Given the description of an element on the screen output the (x, y) to click on. 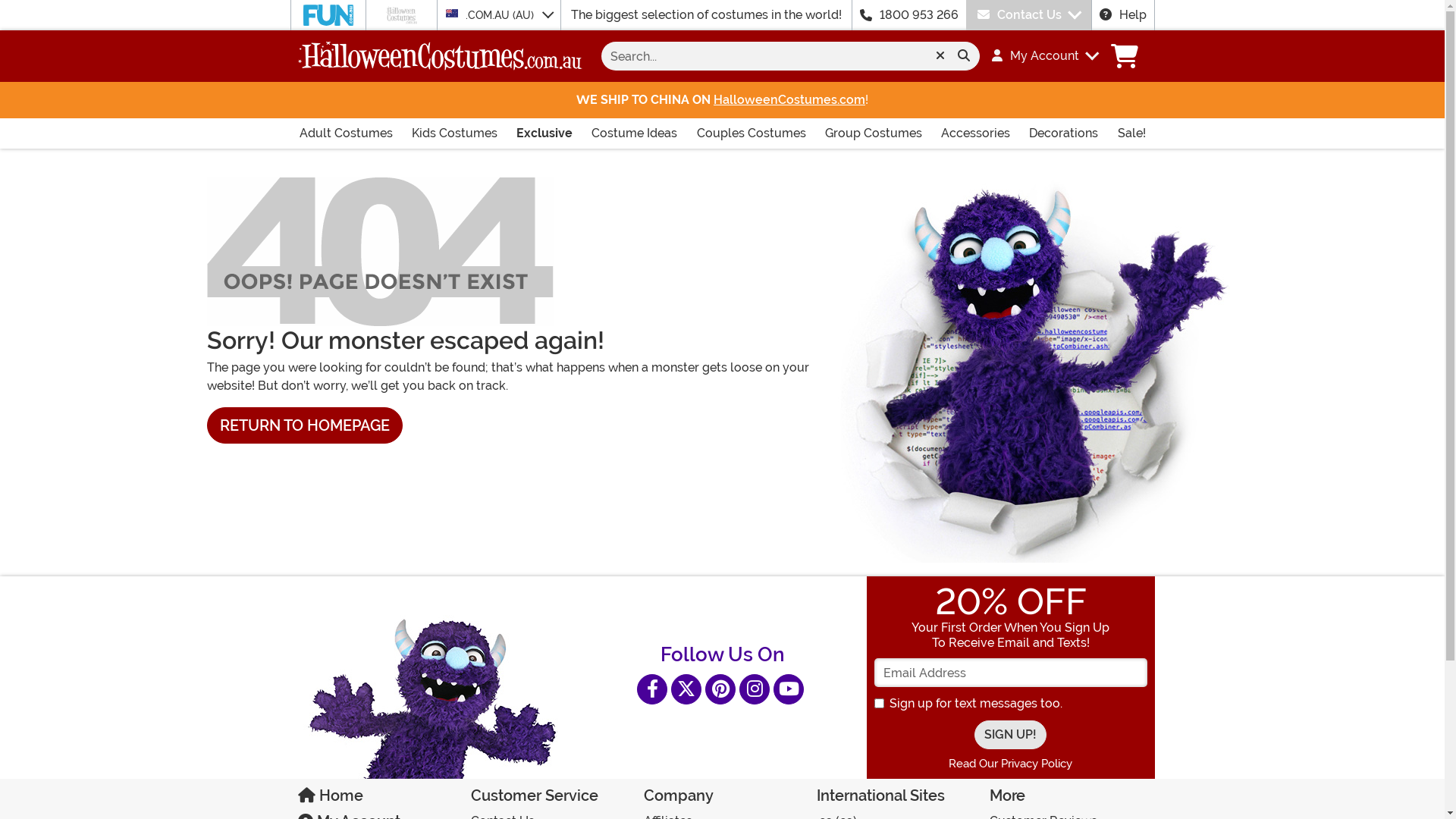
My Account Element type: text (1038, 55)
HalloweenCostumes.com Element type: text (789, 99)
Exclusive Element type: text (544, 133)
Sale! Element type: text (1131, 133)
International Sites Element type: text (894, 799)
Accessories Element type: text (975, 133)
Adult Costumes Element type: text (345, 133)
Read Our Privacy Policy Element type: text (1010, 763)
Group Costumes Element type: text (873, 133)
 Home Element type: text (376, 799)
Sign Up! Element type: text (1010, 734)
More Element type: text (1067, 799)
Decorations Element type: text (1063, 133)
RETURN TO HOMEPAGE Element type: text (303, 425)
Couples Costumes Element type: text (750, 133)
Contact Us Element type: text (1028, 15)
Help Element type: text (1122, 15)
Kids Costumes Element type: text (454, 133)
.COM.AU (AU) Element type: text (498, 14)
Customer Service Element type: text (548, 799)
Costume Ideas Element type: text (634, 133)
Company Element type: text (721, 799)
